Given the description of an element on the screen output the (x, y) to click on. 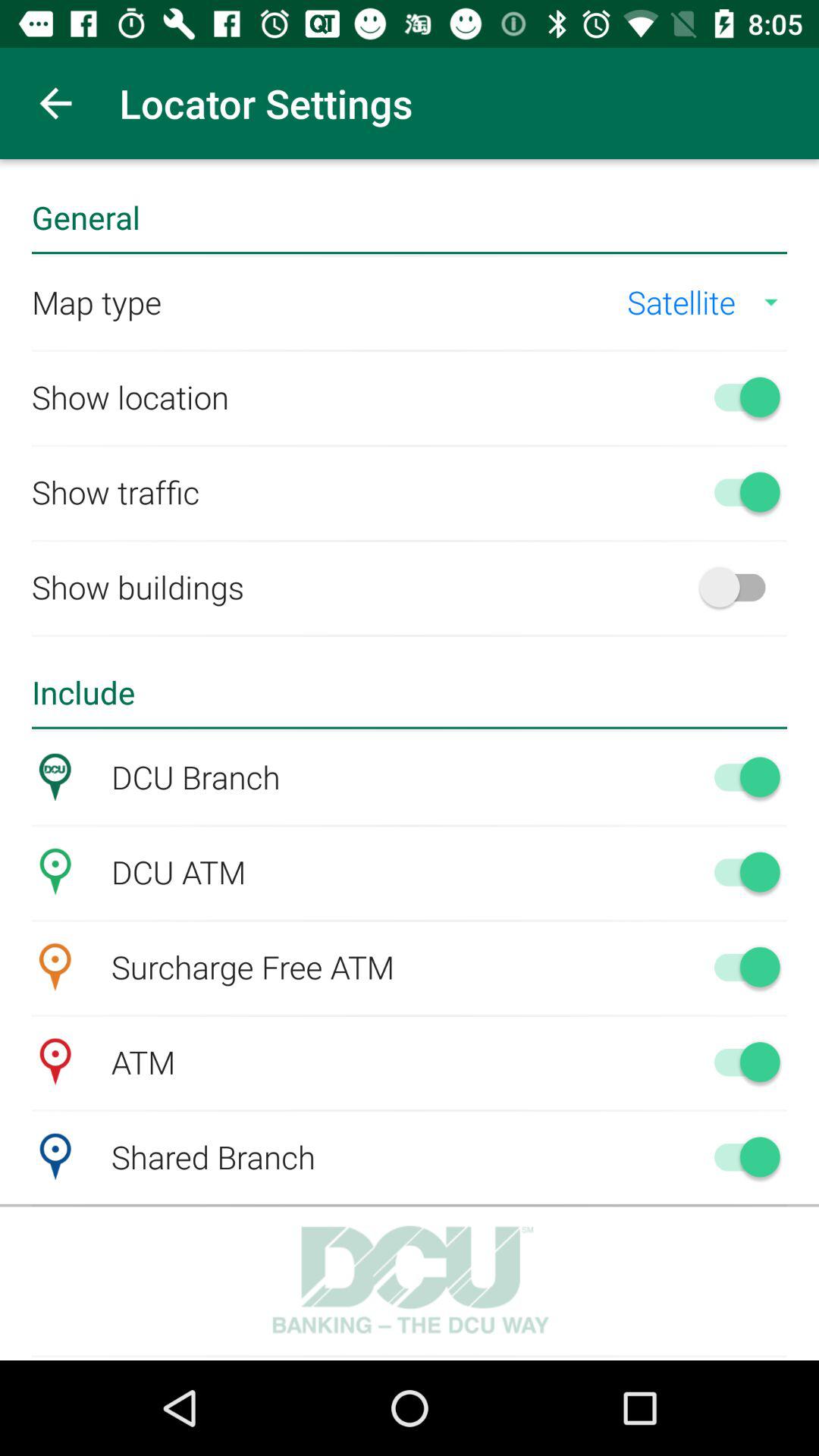
toggle show builders option (739, 586)
